Given the description of an element on the screen output the (x, y) to click on. 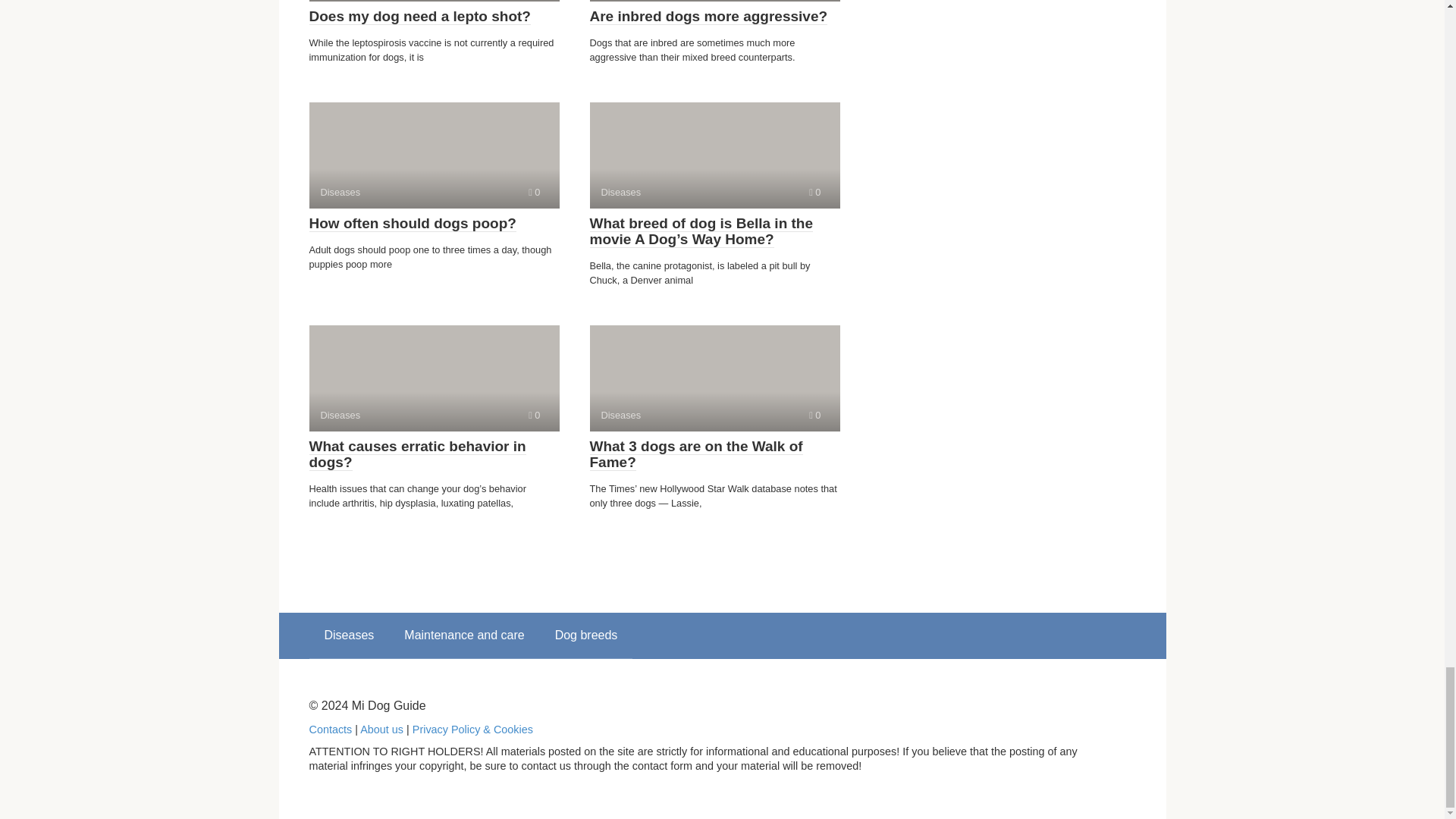
Does my dog need a lepto shot? (419, 16)
How often should dogs poop? (412, 223)
Are inbred dogs more aggressive? (708, 16)
Comments (815, 192)
What causes erratic behavior in dogs? (433, 155)
Comments (534, 414)
Comments (416, 454)
